Given the description of an element on the screen output the (x, y) to click on. 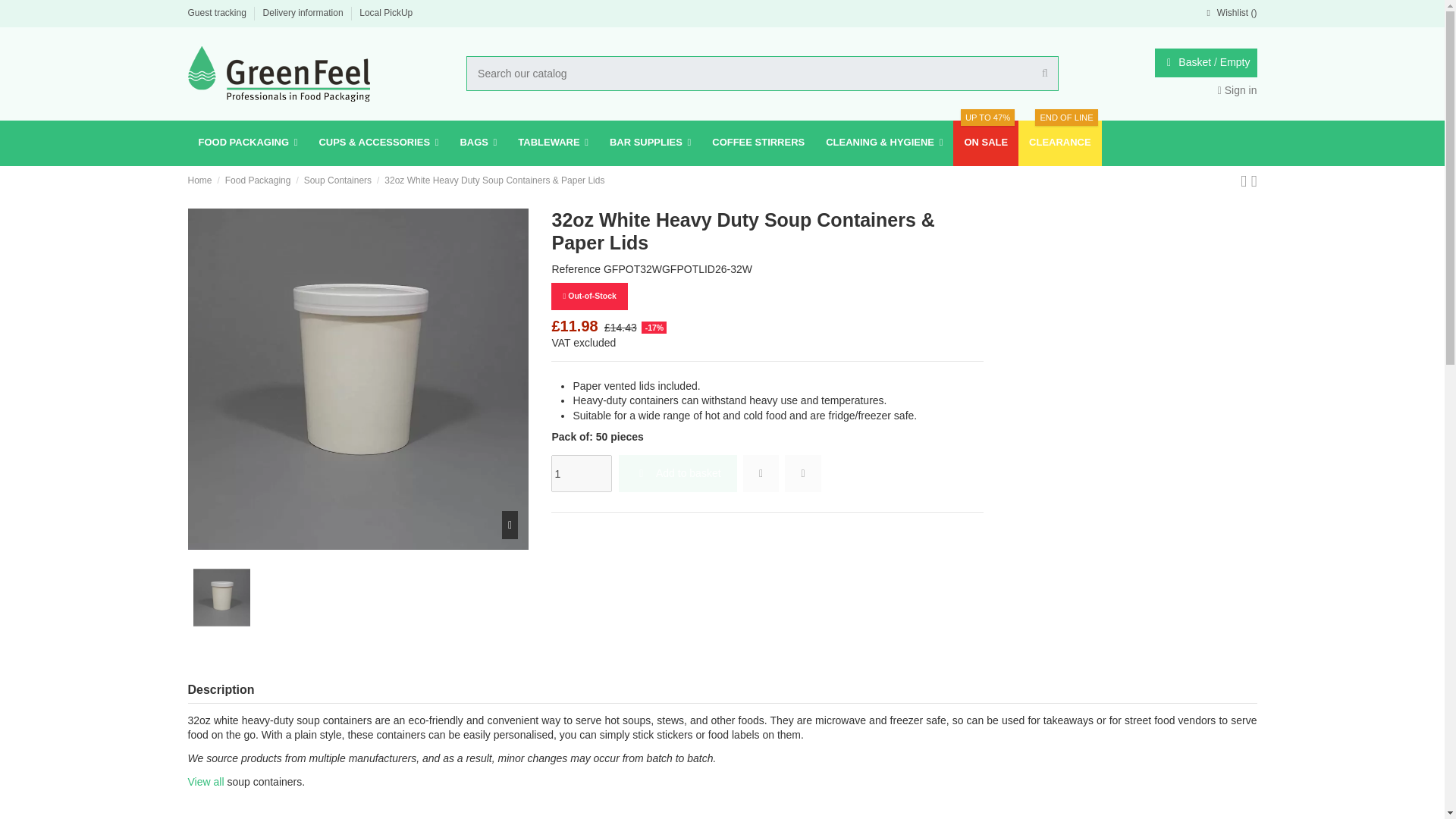
FOOD PACKAGING (247, 143)
Guest tracking (217, 12)
1 (581, 473)
Add to wishlist (760, 473)
Log in to your customer account (1237, 90)
Local PickUp (385, 12)
Delivery information (304, 12)
Sign in (1237, 90)
Add to compare (802, 473)
Our terms and conditions of delivery (304, 12)
